Given the description of an element on the screen output the (x, y) to click on. 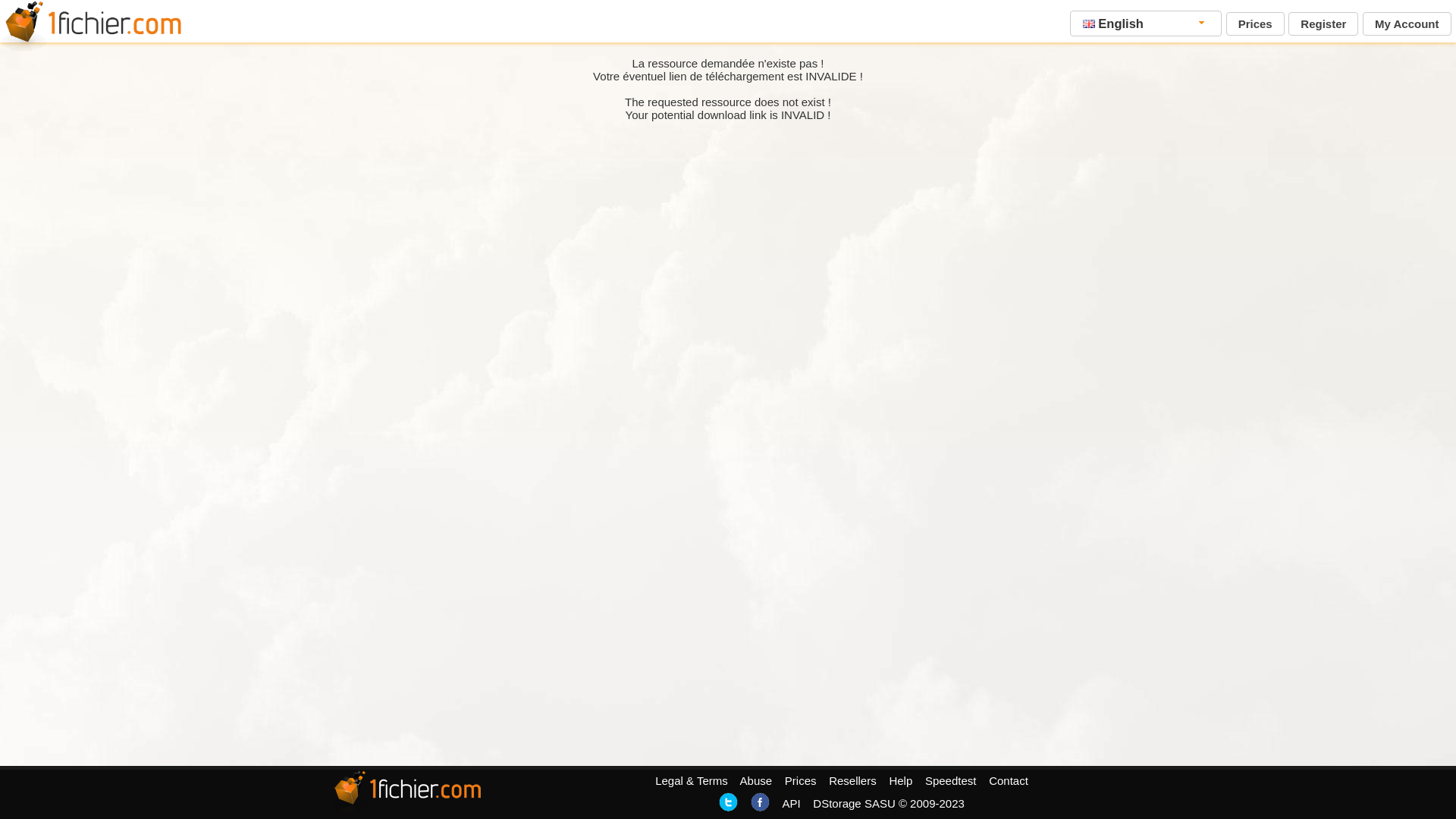
My Account Element type: text (1406, 23)
Resellers Element type: text (852, 780)
Abuse Element type: text (756, 780)
Prices Element type: text (800, 780)
Prices Element type: text (1255, 23)
API Element type: text (790, 803)
Register Element type: text (1323, 23)
Speedtest Element type: text (950, 780)
Contact Element type: text (1008, 780)
Help Element type: text (900, 780)
Legal & Terms Element type: text (691, 780)
